Given the description of an element on the screen output the (x, y) to click on. 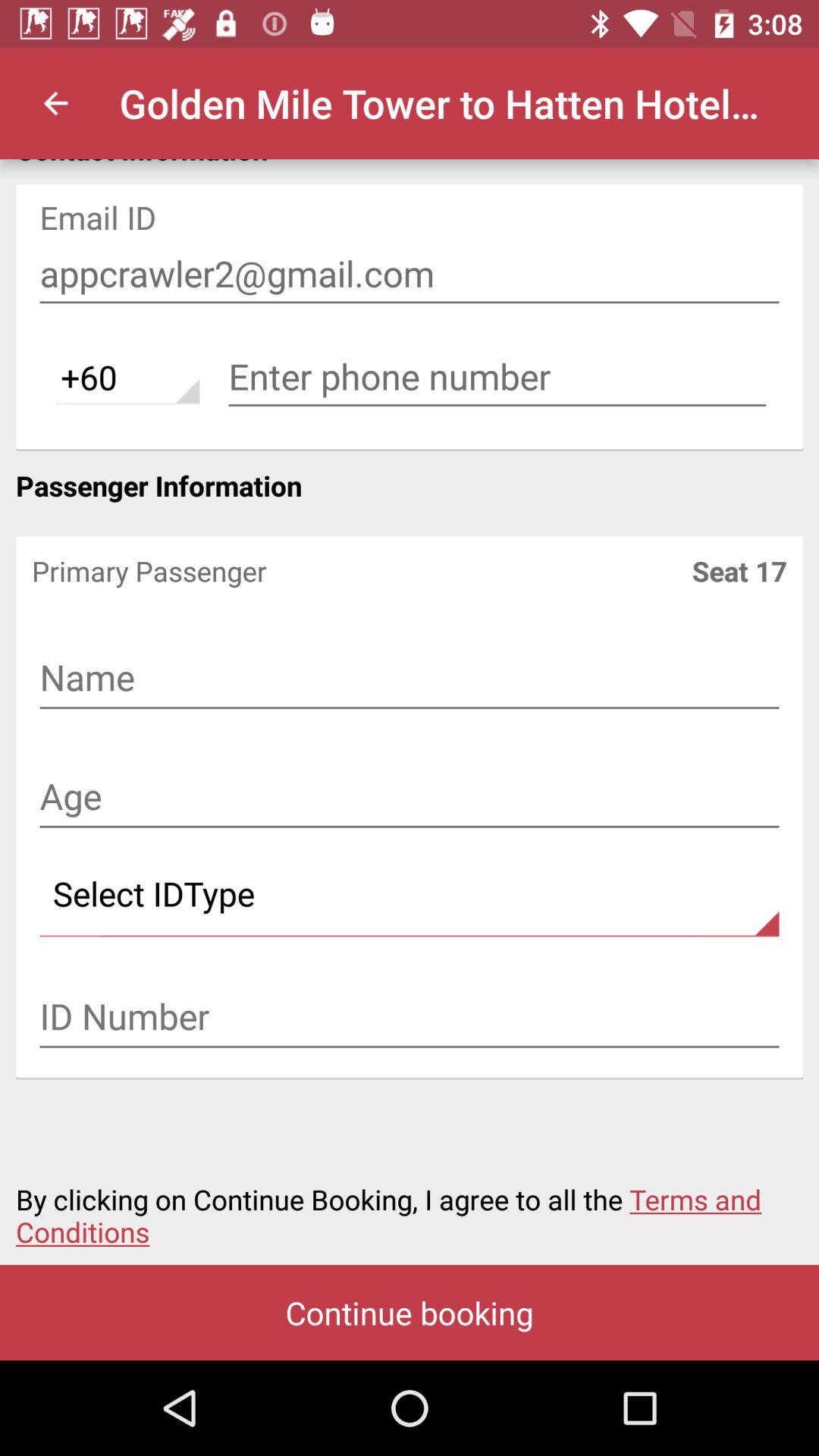
launch the icon to the right of +60 icon (497, 377)
